Given the description of an element on the screen output the (x, y) to click on. 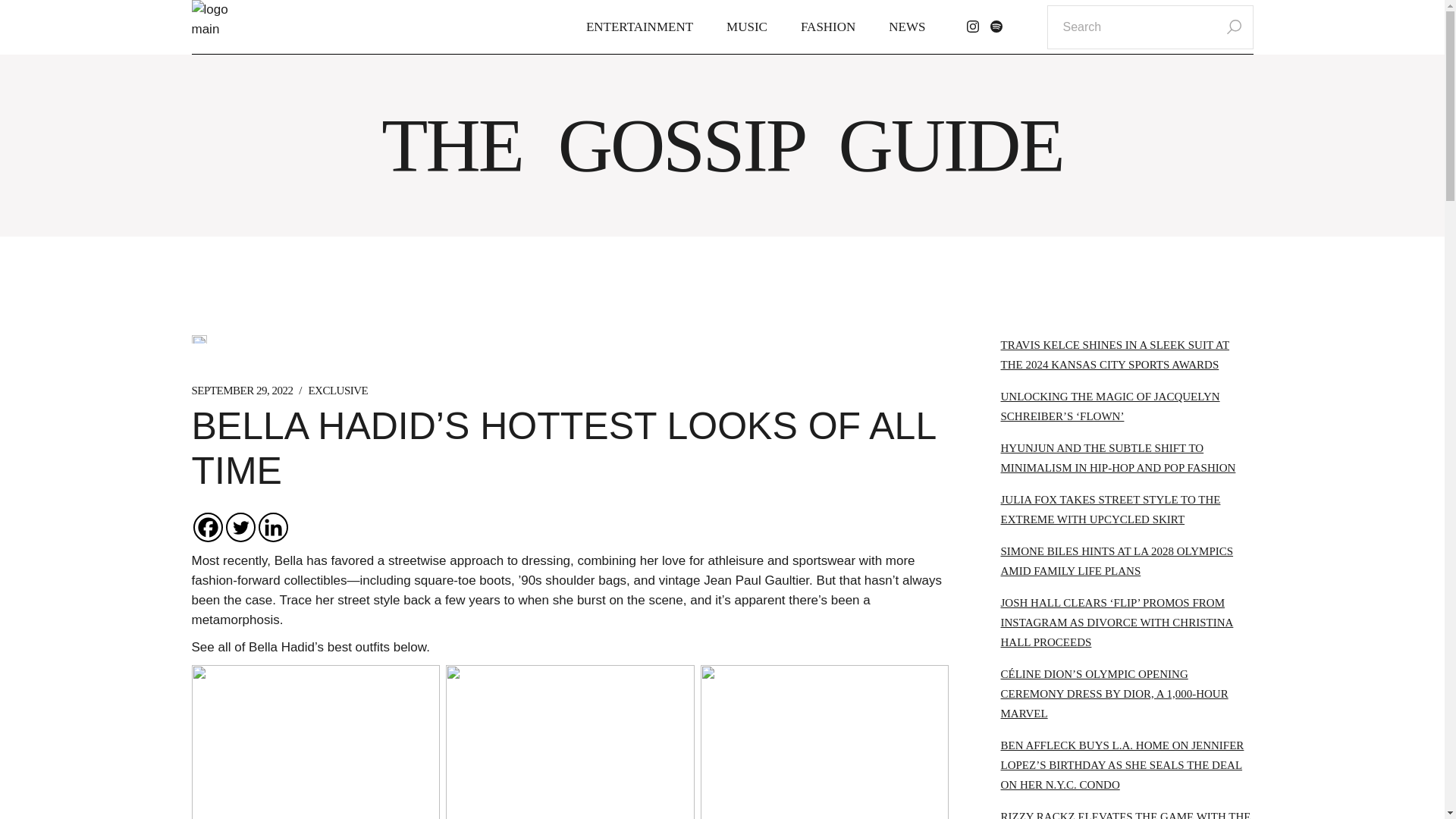
Linkedin (271, 527)
Facebook (207, 527)
ENTERTAINMENT (639, 27)
MUSIC (746, 27)
Twitter (240, 527)
EXCLUSIVE (337, 390)
FASHION (828, 27)
